Given the description of an element on the screen output the (x, y) to click on. 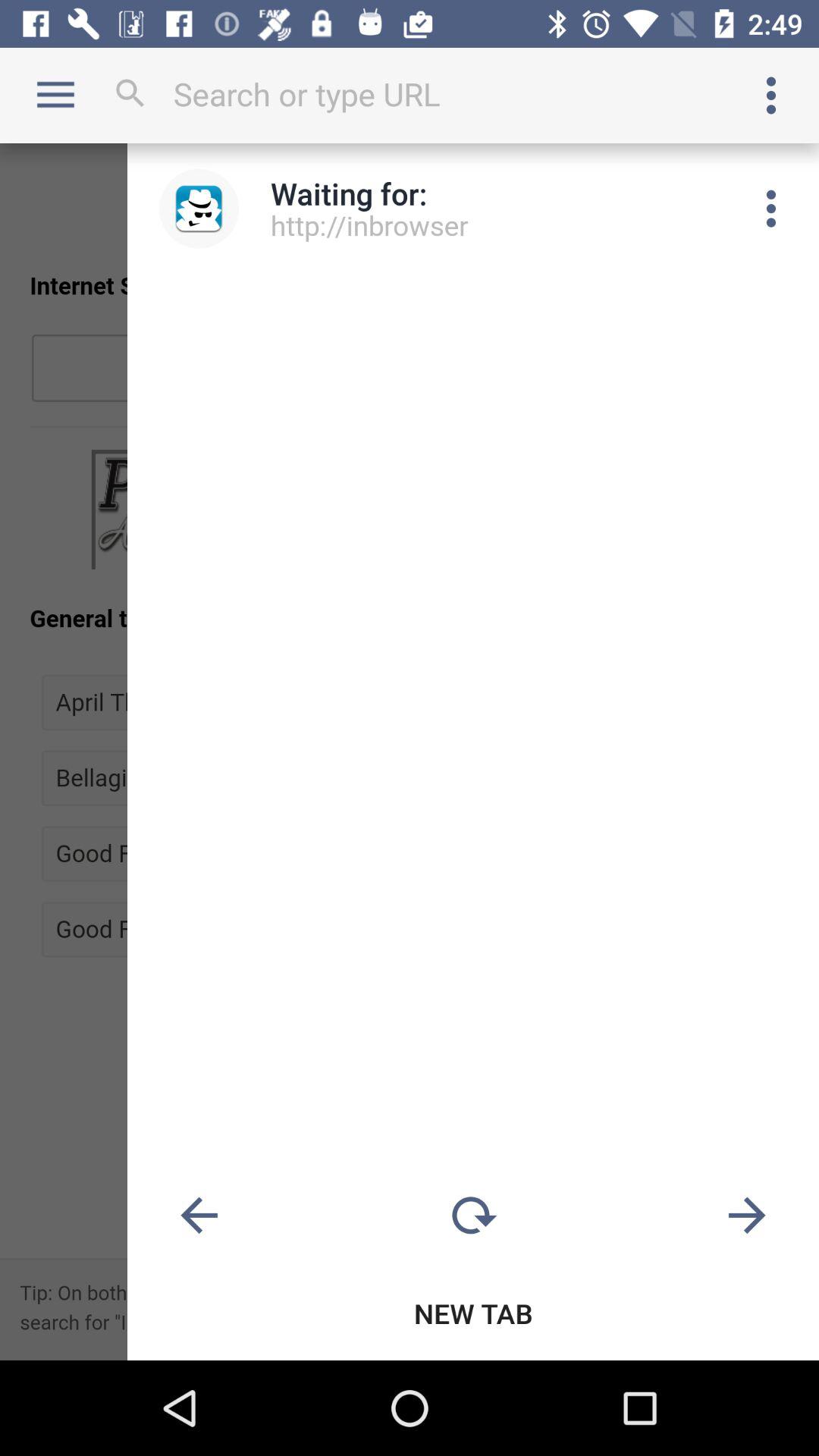
reload (472, 1216)
